Given the description of an element on the screen output the (x, y) to click on. 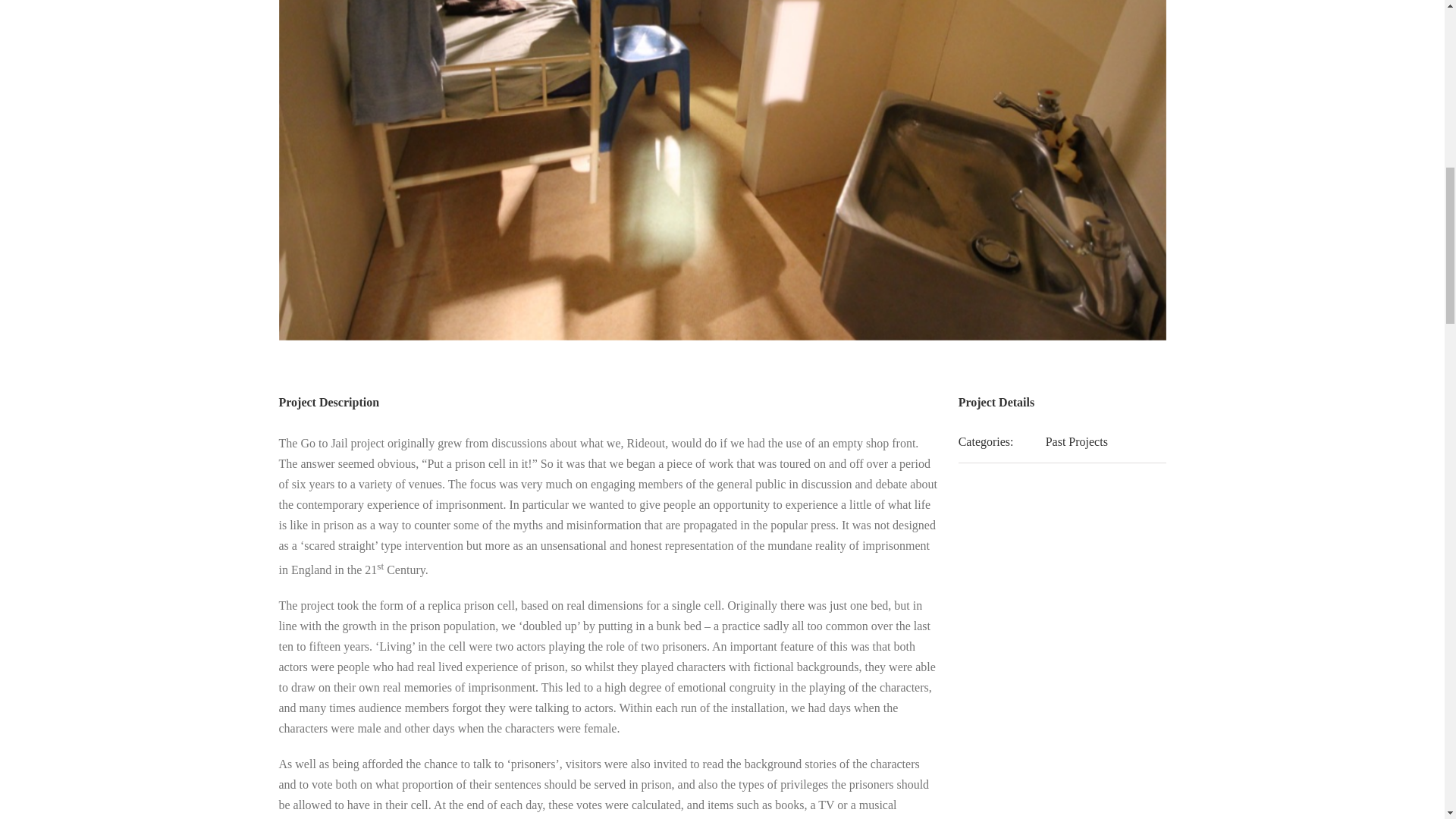
Past Projects (1076, 440)
